Given the description of an element on the screen output the (x, y) to click on. 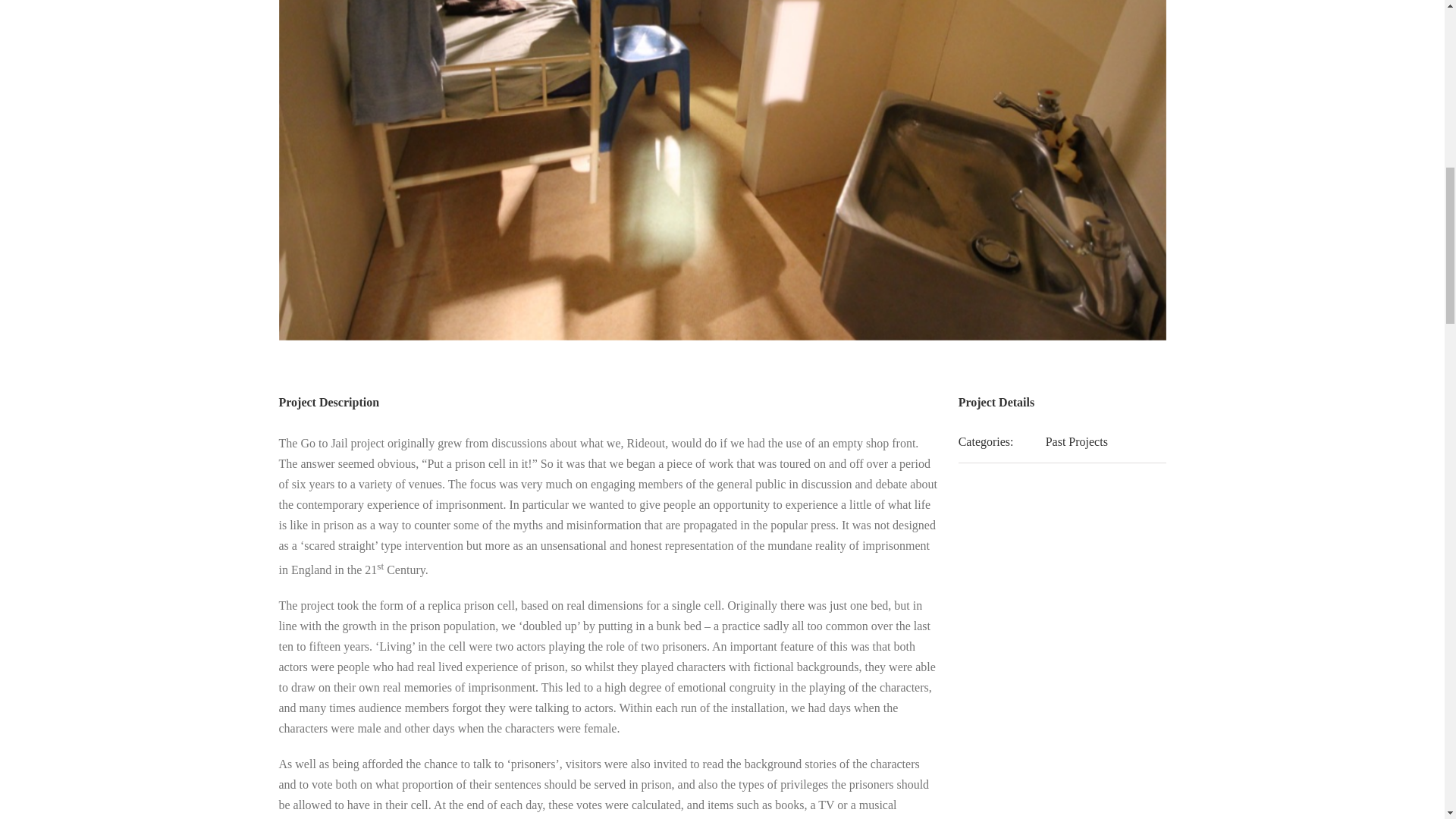
Past Projects (1076, 440)
